Given the description of an element on the screen output the (x, y) to click on. 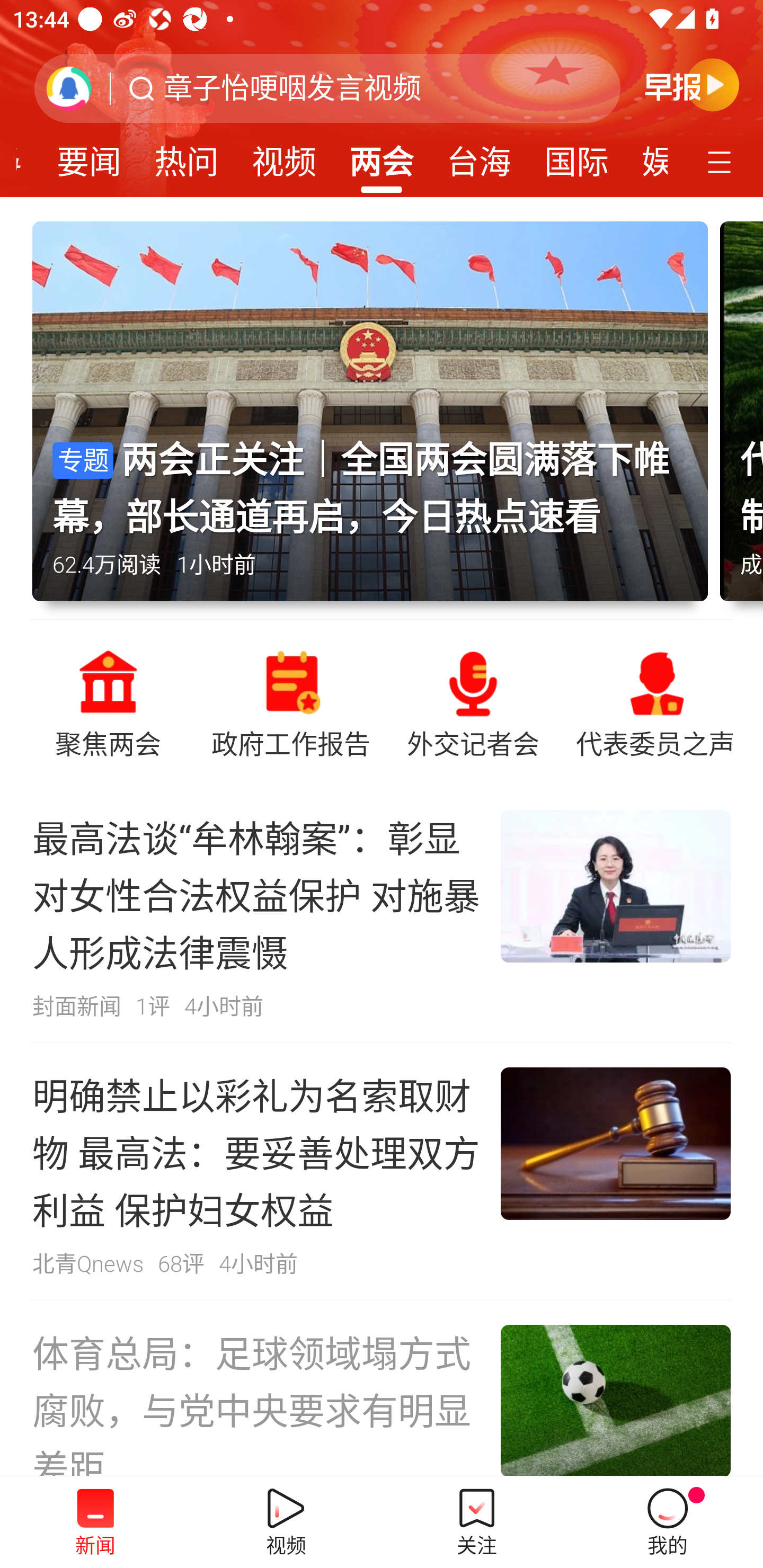
早晚报 (691, 84)
刷新 (68, 88)
章子怡哽咽发言视频 (292, 88)
要闻 (89, 155)
热问 (186, 155)
视频 (283, 155)
两会 (381, 155)
台海 (478, 155)
国际 (575, 155)
 定制频道 (721, 160)
专题两会正关注｜全国两会圆满落下帷幕，部长通道再启，今日热点速看 62.4万阅读   1小时前 (376, 420)
聚焦两会 (107, 702)
政府工作报告 (290, 702)
外交记者会 (473, 702)
代表委员之声 (655, 702)
最高法谈“牟林翰案”：彰显对女性合法权益保护 对施暴人形成法律震慑 封面新闻 1评 4小时前 (381, 913)
体育总局：足球领域塌方式腐败，与党中央要求有明显差距 (381, 1388)
